Given the description of an element on the screen output the (x, y) to click on. 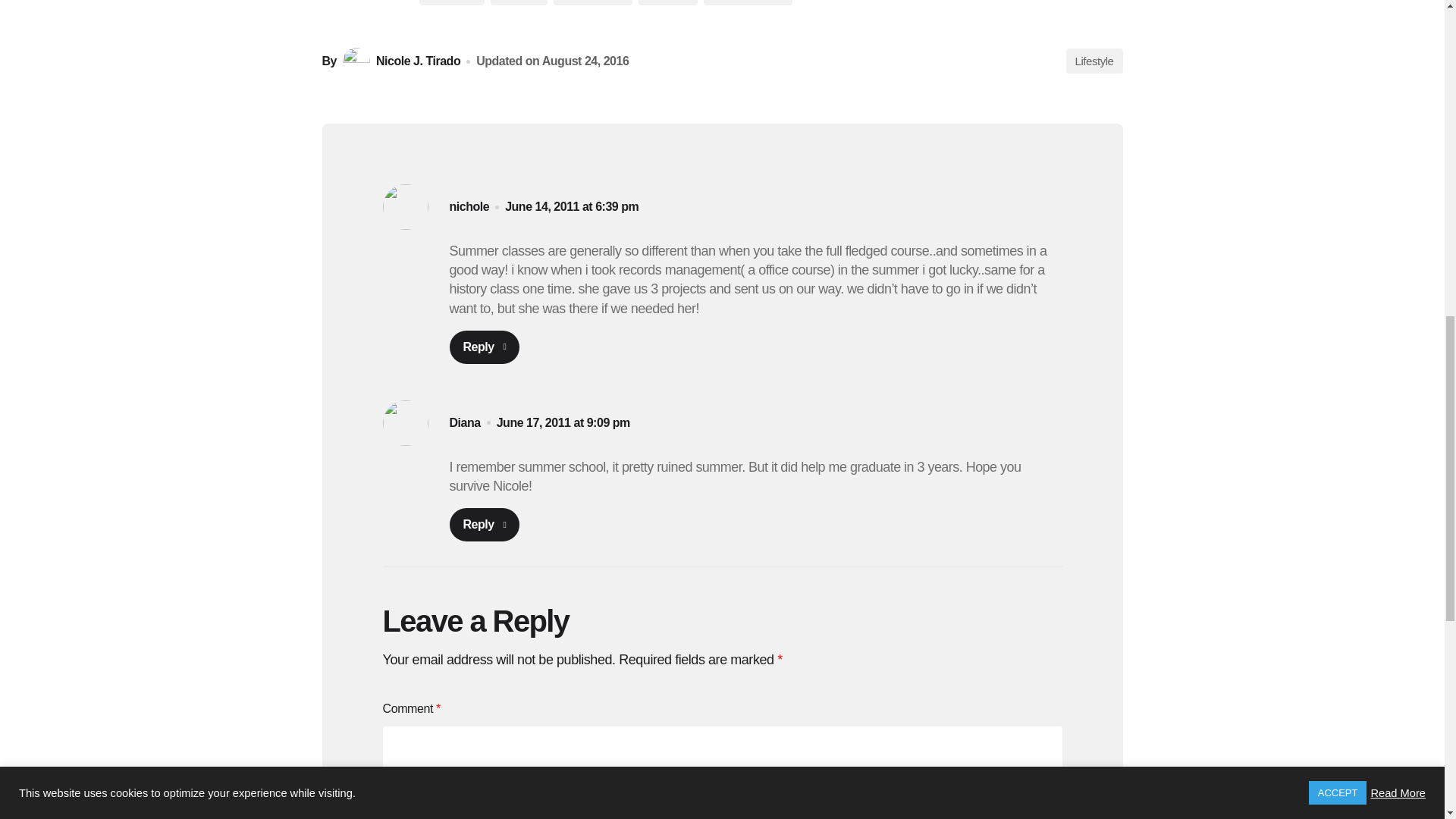
Nicole J. Tirado (399, 61)
Summer Class (747, 2)
Summer (668, 2)
Practice (518, 2)
Education (451, 2)
Pre-Calculus (592, 2)
